Given the description of an element on the screen output the (x, y) to click on. 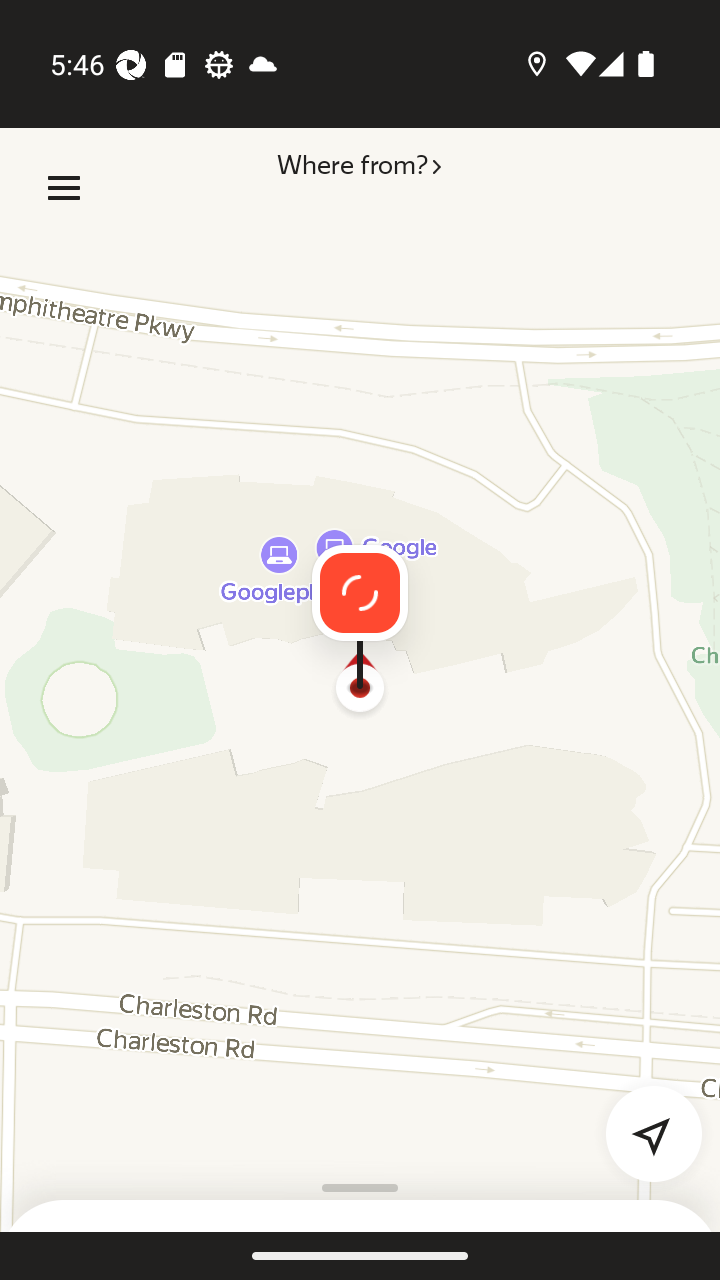
Menu Menu Menu (64, 188)
Where from?   (358, 188)
Detect my location (641, 1122)
